Given the description of an element on the screen output the (x, y) to click on. 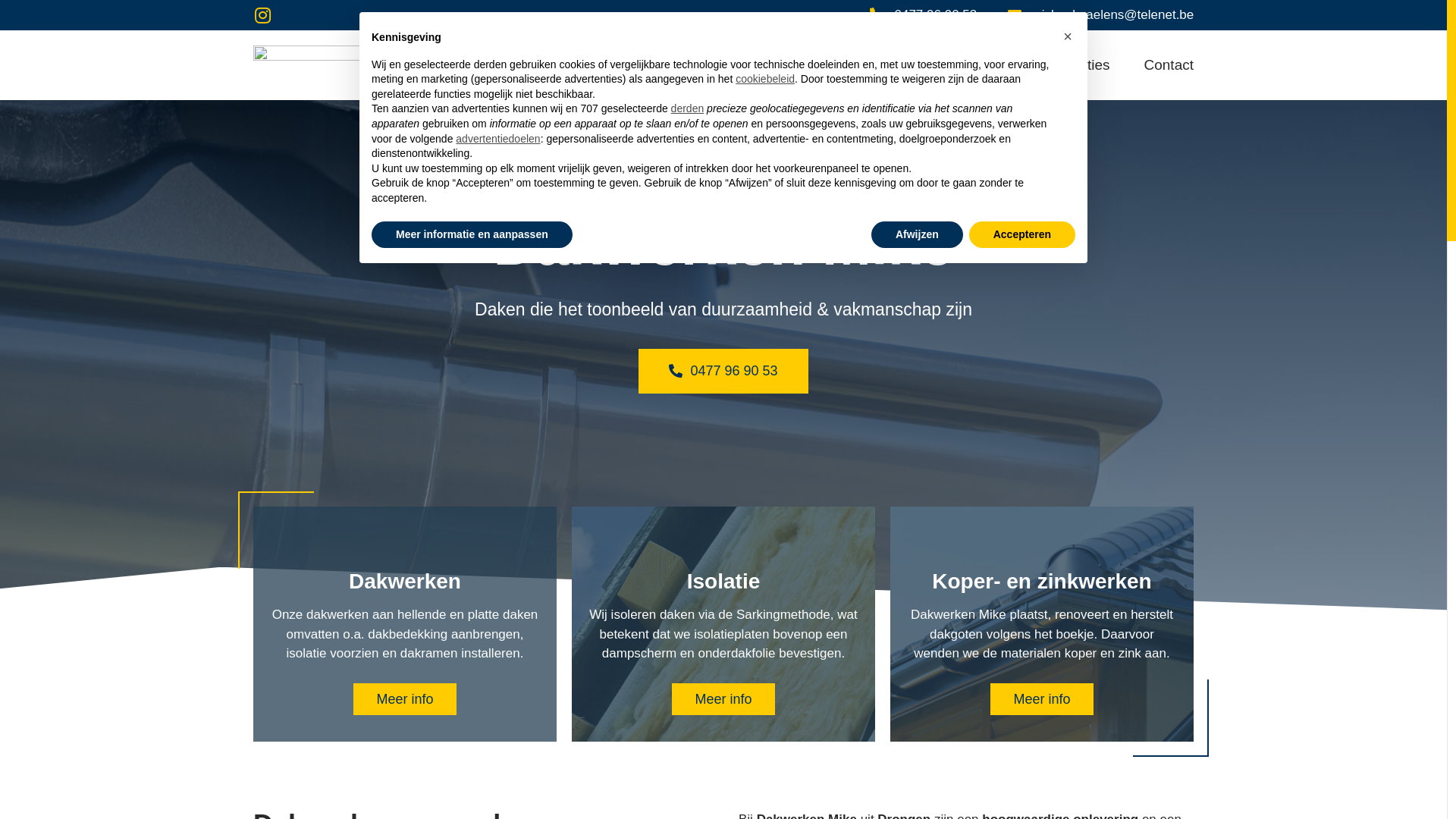
michael.gaelens@telenet.be Element type: text (1098, 15)
Afwijzen Element type: text (917, 234)
Home Element type: text (878, 64)
0477 96 90 53 Element type: text (722, 370)
derden Element type: text (687, 108)
Diensten Element type: text (968, 64)
Contact Element type: text (1167, 64)
advertentiedoelen Element type: text (497, 138)
Meer informatie en aanpassen Element type: text (471, 234)
Realisaties Element type: text (1074, 64)
Accepteren Element type: text (1022, 234)
0477 96 90 53 Element type: text (922, 15)
cookiebeleid Element type: text (764, 78)
